Given the description of an element on the screen output the (x, y) to click on. 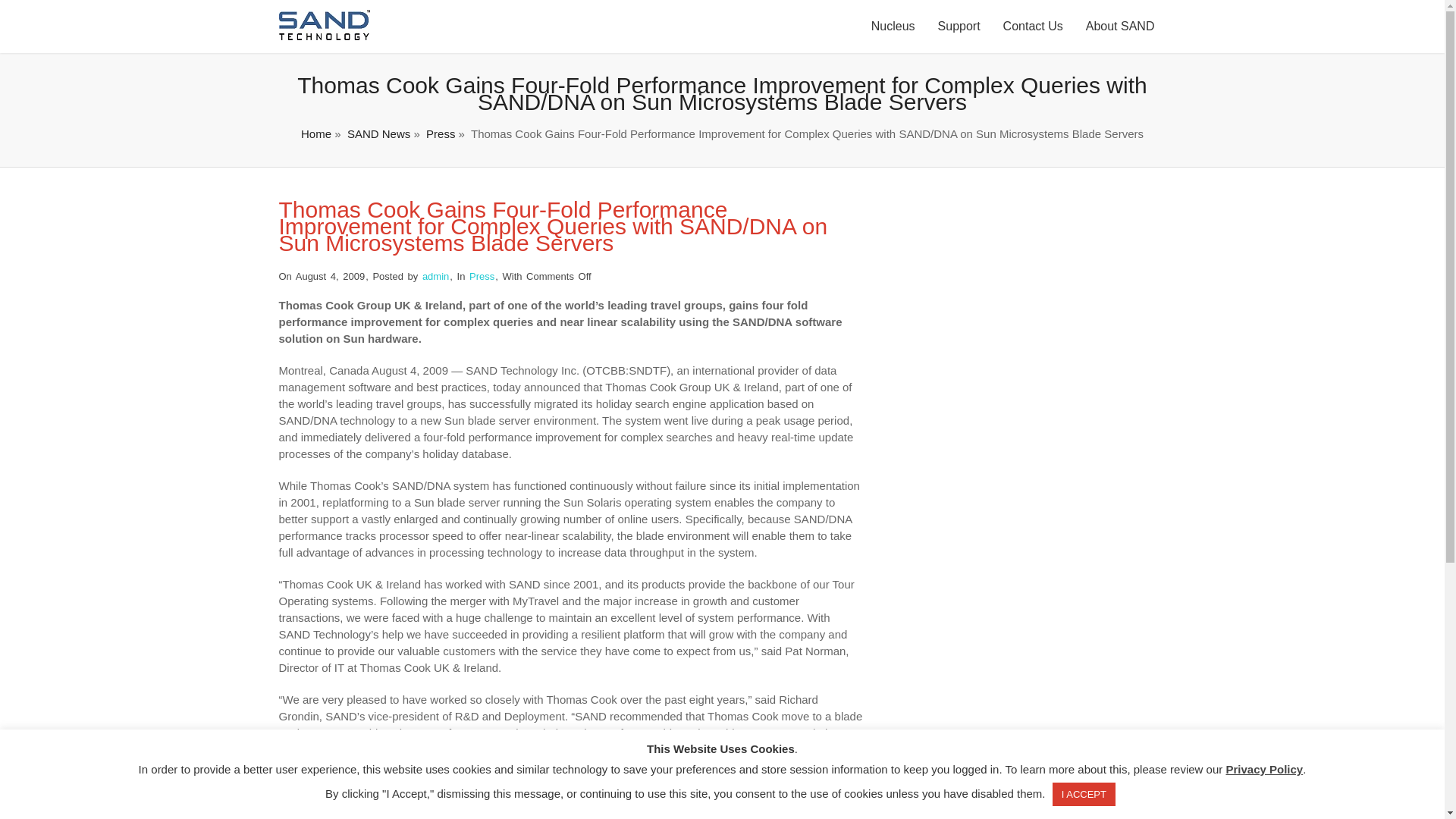
admin (435, 276)
Press (481, 275)
Contact Us (1032, 26)
Support (958, 26)
Press (440, 133)
About SAND (1120, 26)
Privacy Policy (1264, 768)
Home (316, 133)
SAND (324, 35)
Posts by admin (435, 276)
I ACCEPT (1083, 793)
SAND News (378, 133)
Nucleus (893, 26)
